Given the description of an element on the screen output the (x, y) to click on. 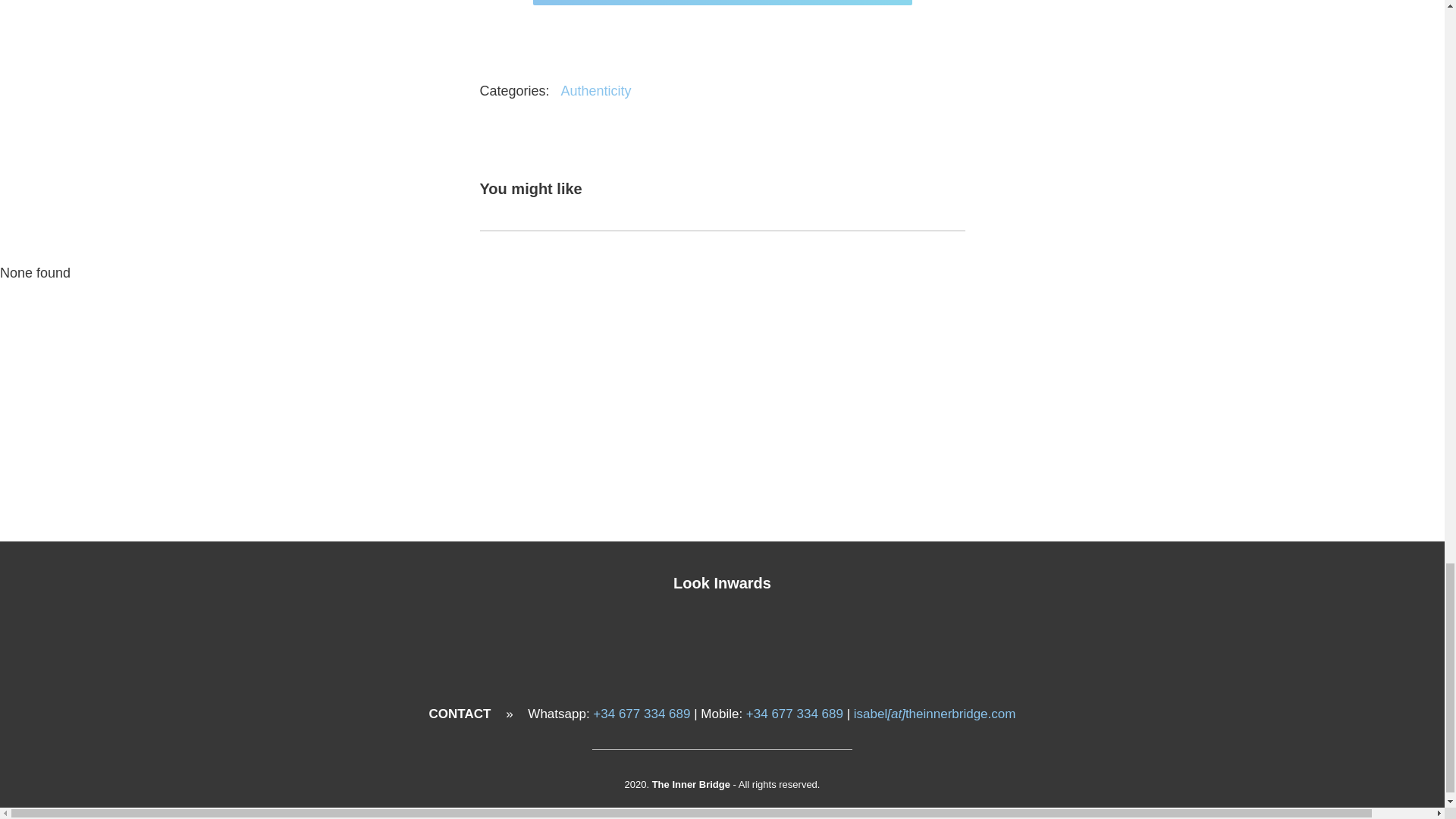
Book here (721, 2)
Authenticity (595, 91)
Sign up for Isabel's Newsletter (722, 474)
